Given the description of an element on the screen output the (x, y) to click on. 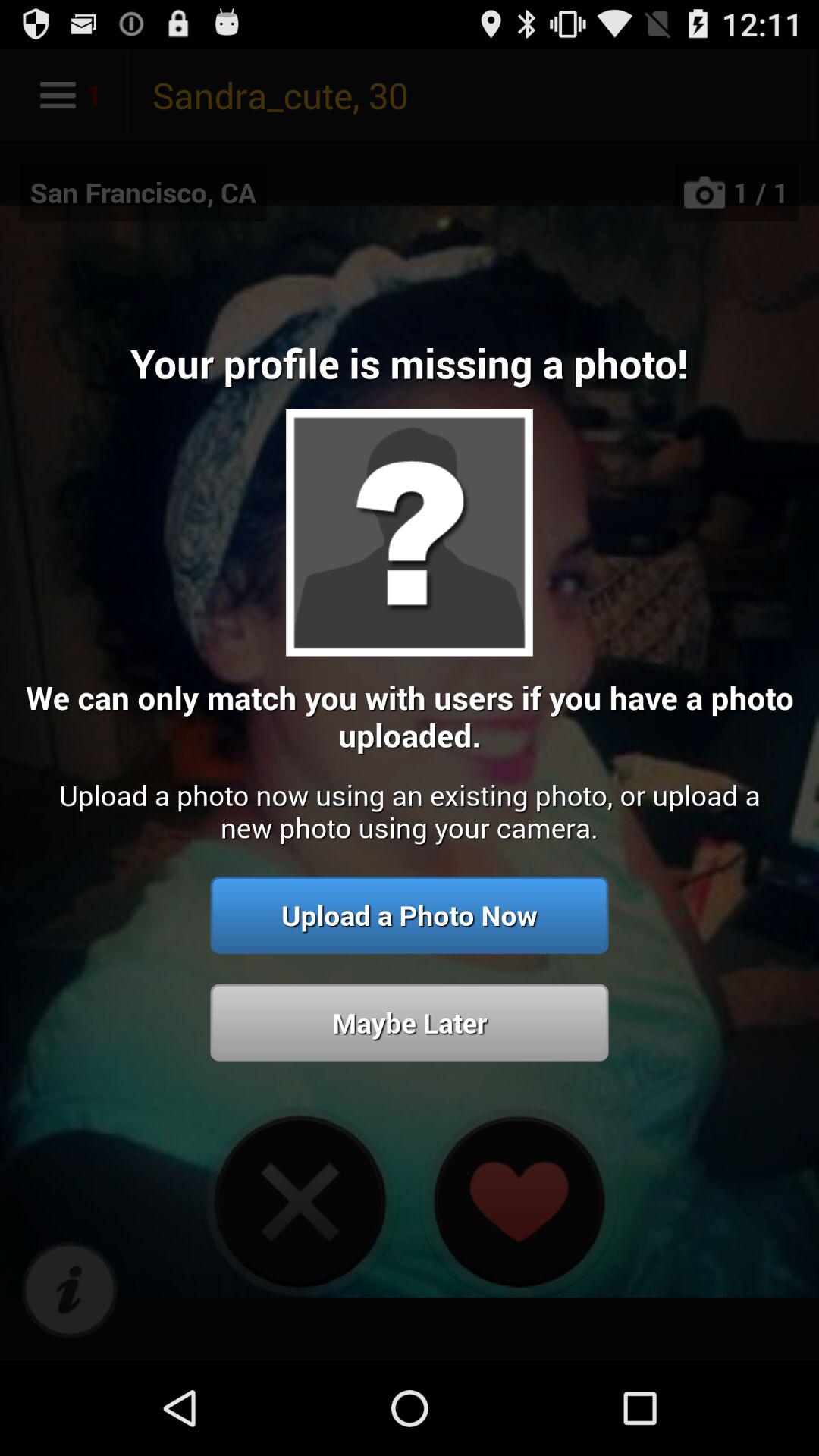
shows exit option (299, 1200)
